Given the description of an element on the screen output the (x, y) to click on. 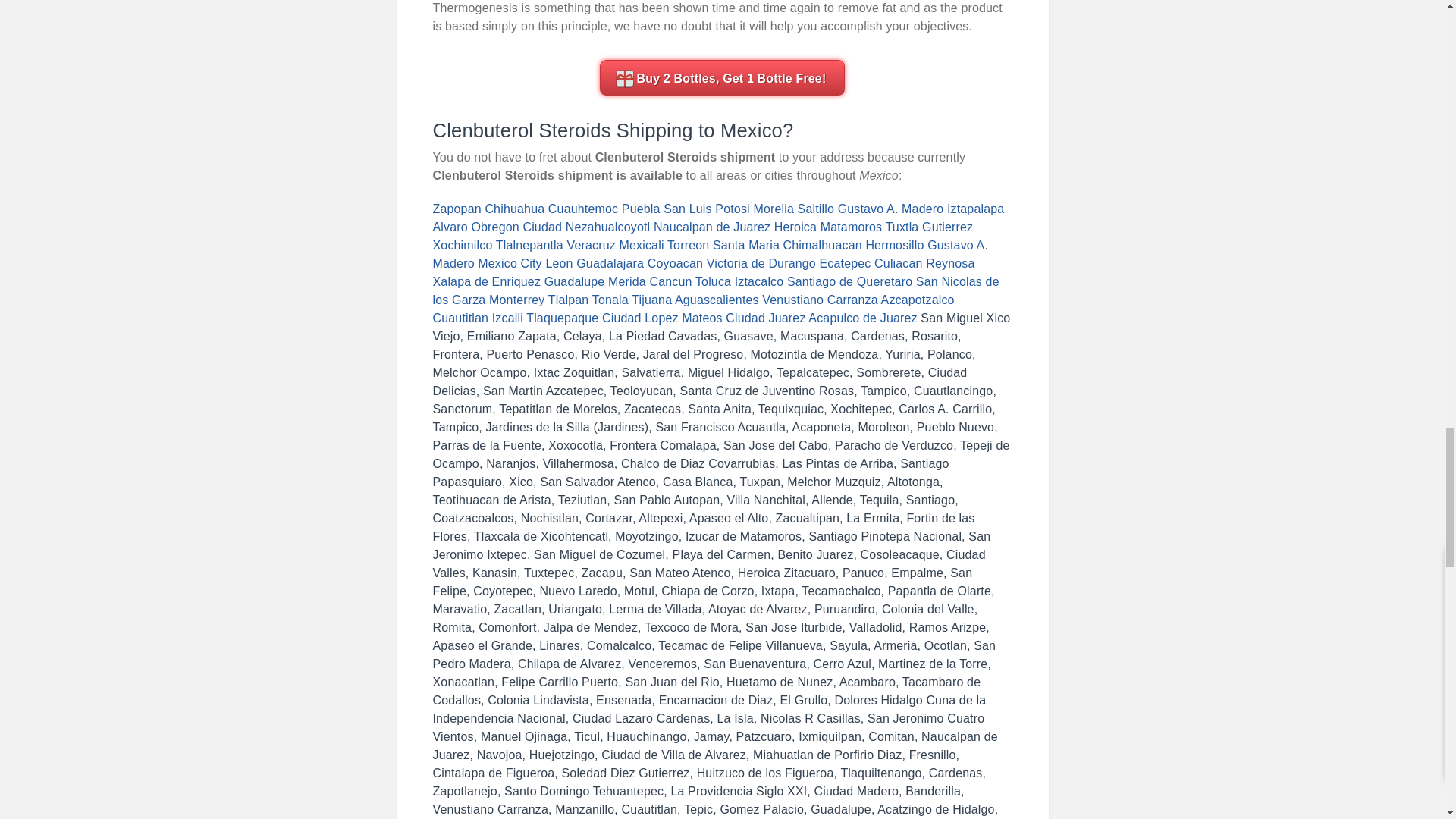
Xalapa de Enriquez (486, 281)
Zapopan (456, 208)
Merida (627, 281)
Ecatepec (844, 263)
Victoria de Durango (760, 263)
San Luis Potosi (706, 208)
Where to Buy Clenbuterol Steroids Online from Puebla (641, 208)
Where to Buy Clenbuterol Steroids Online from Morelia (772, 208)
Chihuahua (514, 208)
Where to Buy Clenbuterol Steroids Online from Chihuahua (514, 208)
